Given the description of an element on the screen output the (x, y) to click on. 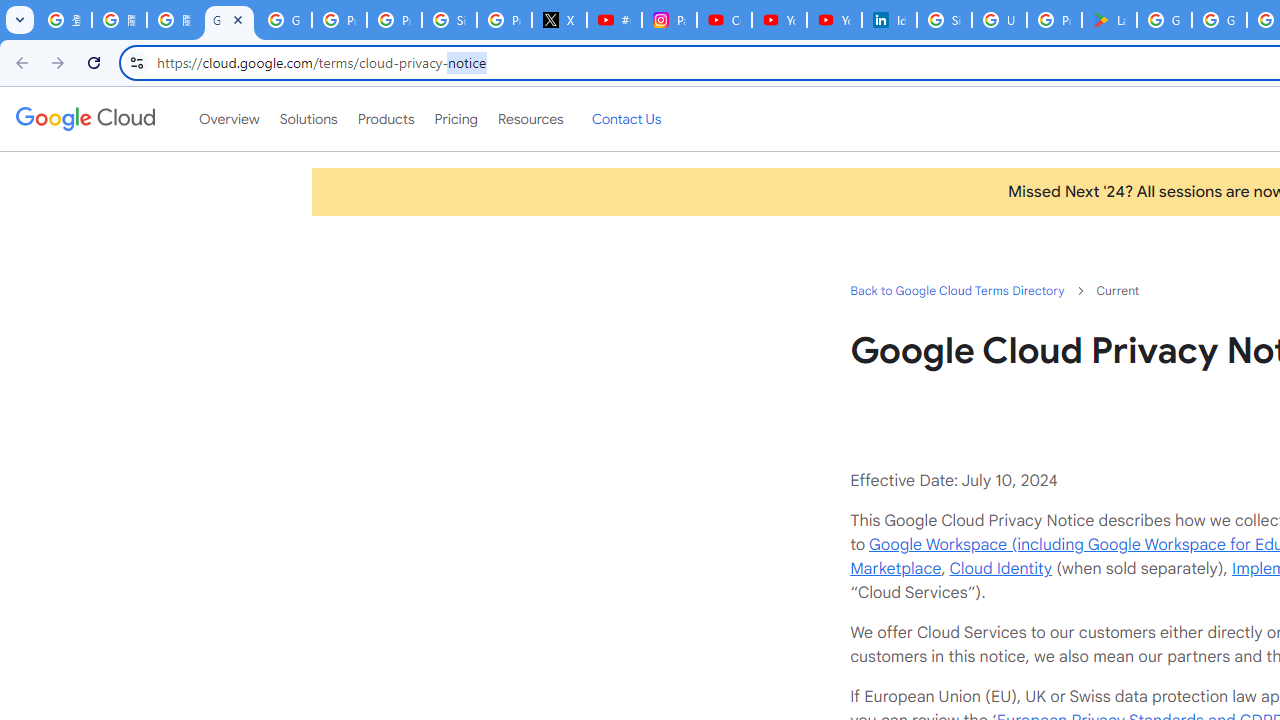
Sign in - Google Accounts (449, 20)
Contact Us (626, 119)
YouTube Culture & Trends - YouTube Top 10, 2021 (833, 20)
